Given the description of an element on the screen output the (x, y) to click on. 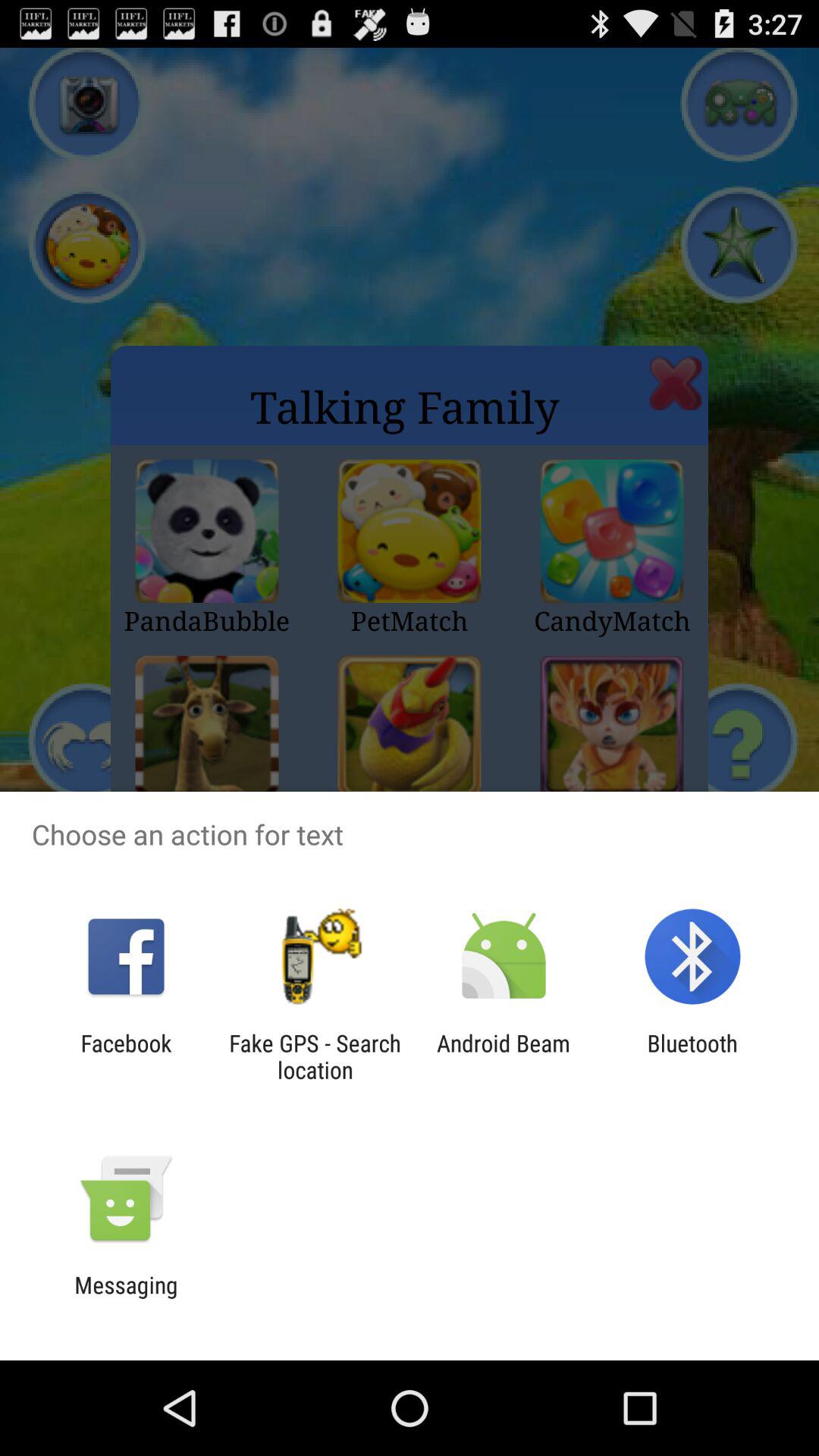
scroll to the bluetooth app (692, 1056)
